Given the description of an element on the screen output the (x, y) to click on. 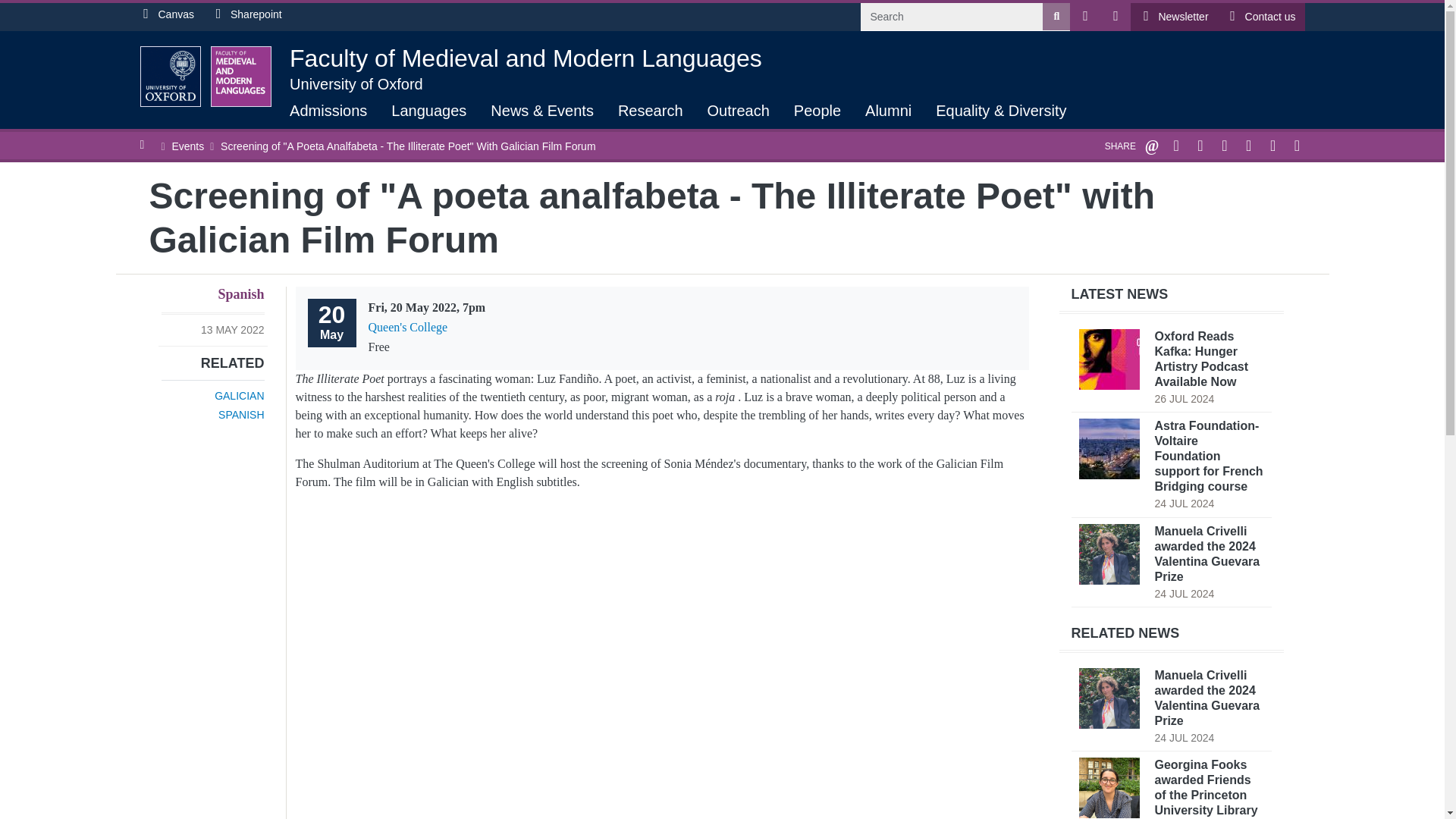
Outreach (738, 111)
People (817, 111)
Wednesday, 24th July 2024 - 13:44 (1184, 503)
Spanish (239, 294)
Contact us (1260, 17)
Newsletter (1174, 17)
Canvas (166, 14)
Wednesday, 24th July 2024 - 12:04 (1184, 737)
Queen's College (408, 327)
Faculty of Medieval and Modern Languages (525, 58)
